Given the description of an element on the screen output the (x, y) to click on. 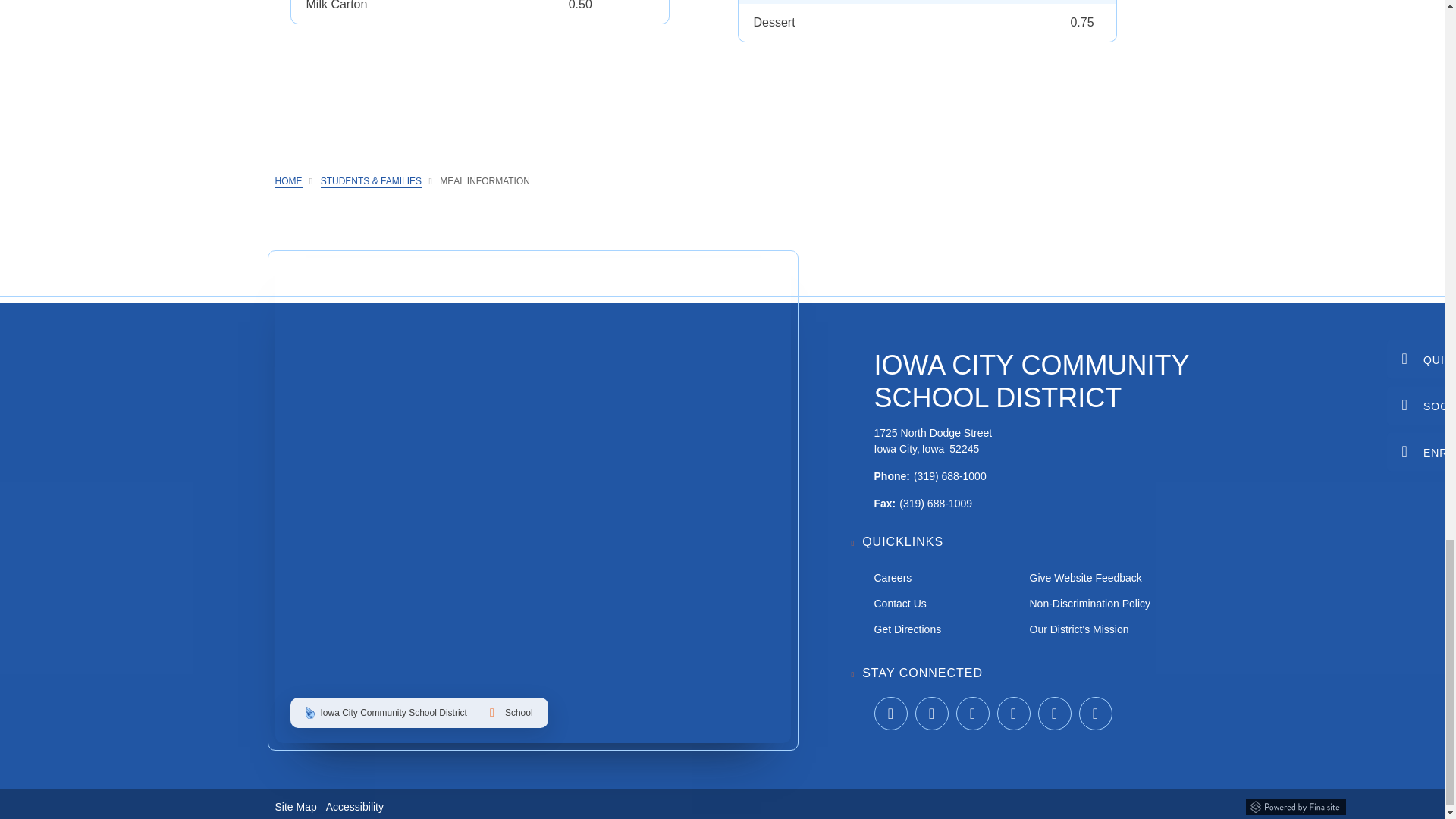
Powered by Finalsite opens in a new window (1295, 803)
